Given the description of an element on the screen output the (x, y) to click on. 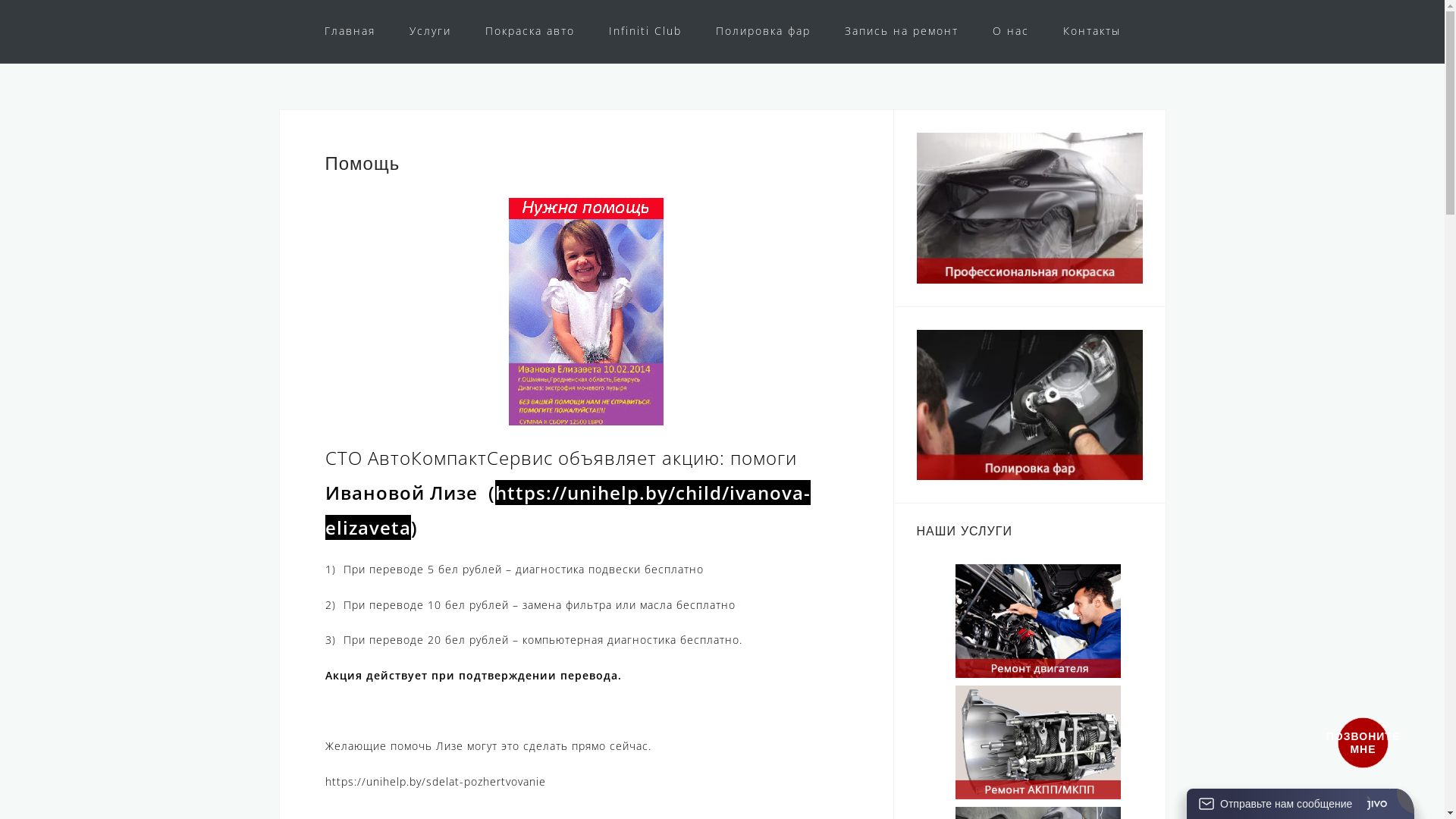
https://unihelp.by/child/ivanova-elizaveta Element type: text (566, 509)
https://unihelp.by/sdelat-pozhertvovanie Element type: text (434, 781)
Infiniti Club Element type: text (644, 30)
